Given the description of an element on the screen output the (x, y) to click on. 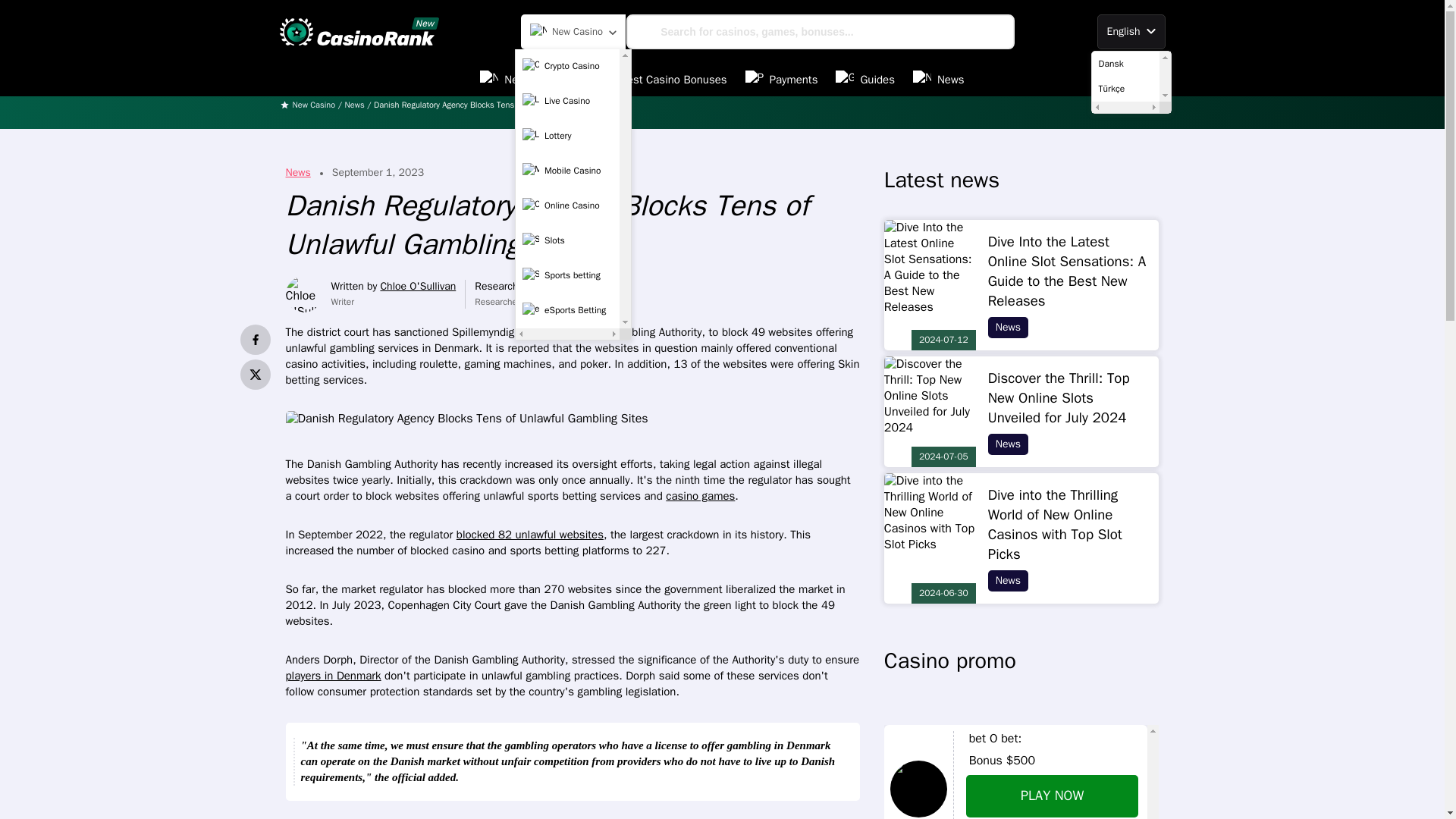
eSports Betting (566, 309)
Dansk (1125, 63)
New Casinos (524, 79)
Payments (781, 79)
Online Casino (566, 205)
Live Casino (566, 100)
Lottery (566, 135)
Mobile Casino (566, 170)
Crypto Casino (566, 65)
Slots (566, 240)
Latest Casino Bonuses (656, 79)
Sports betting (566, 275)
